Given the description of an element on the screen output the (x, y) to click on. 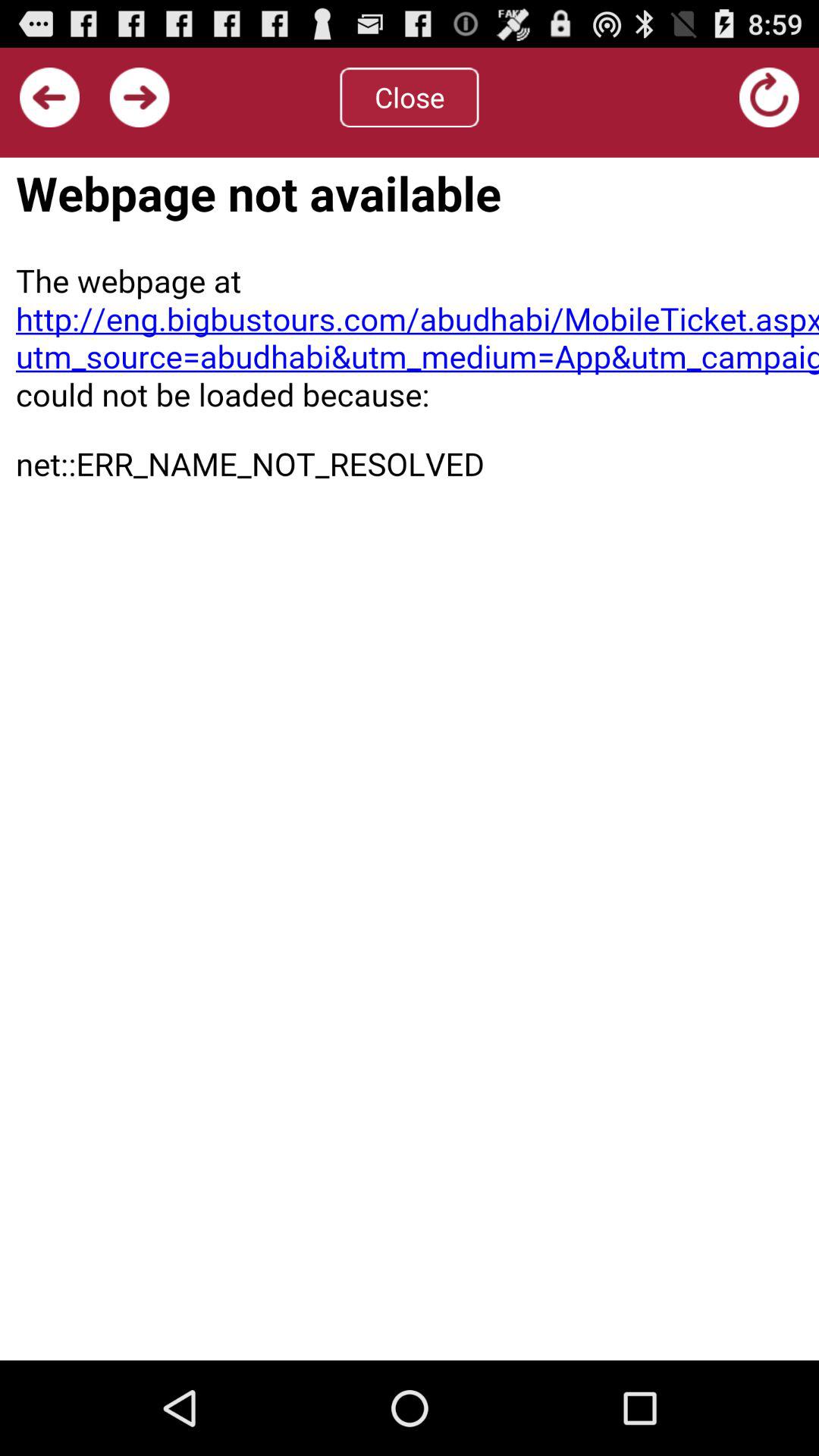
reload page (409, 758)
